Given the description of an element on the screen output the (x, y) to click on. 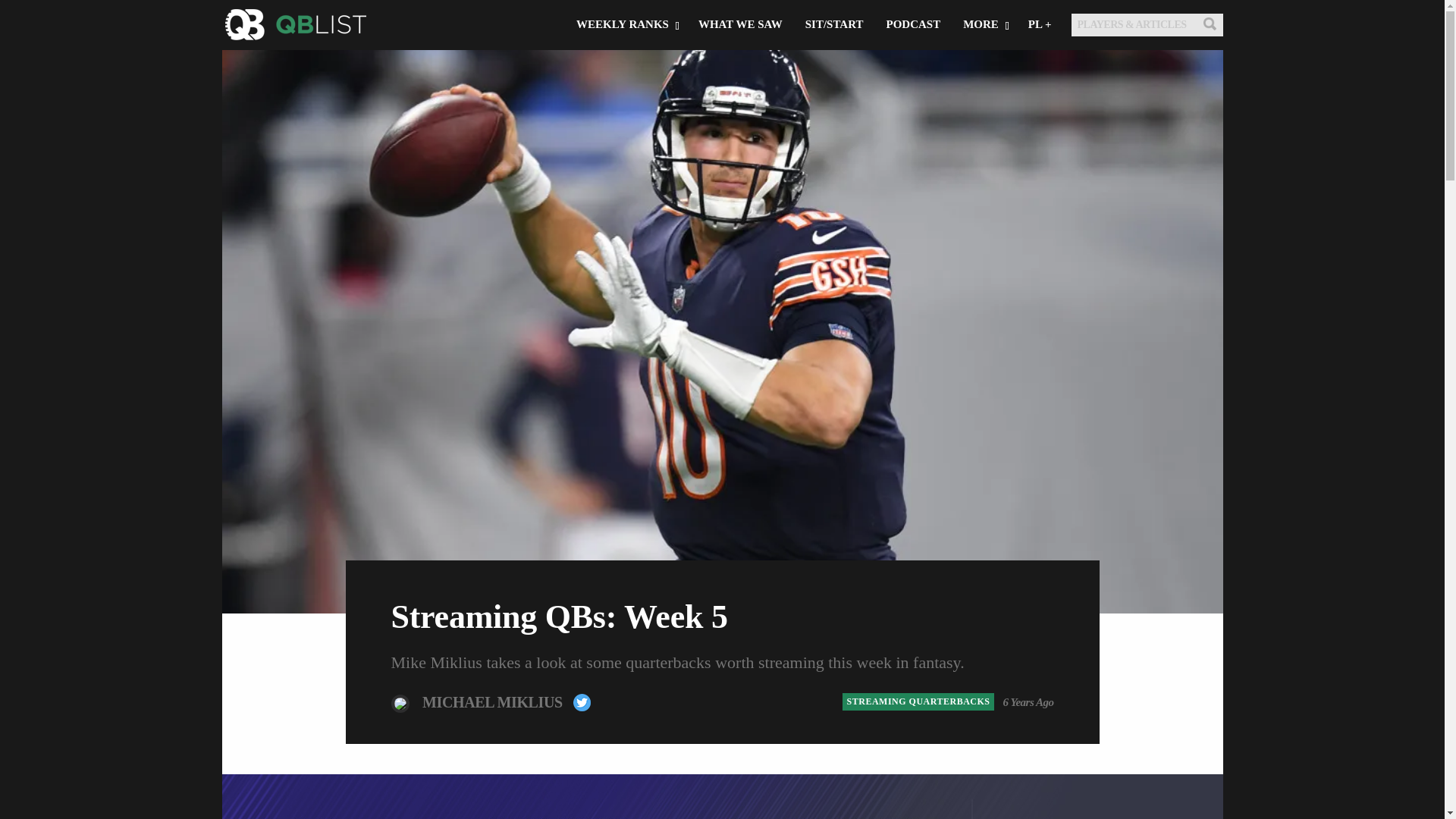
PODCAST (913, 24)
STREAMING QUARTERBACKS (918, 701)
WHAT WE SAW (740, 24)
MORE (984, 24)
MICHAEL MIKLIUS (494, 701)
